Given the description of an element on the screen output the (x, y) to click on. 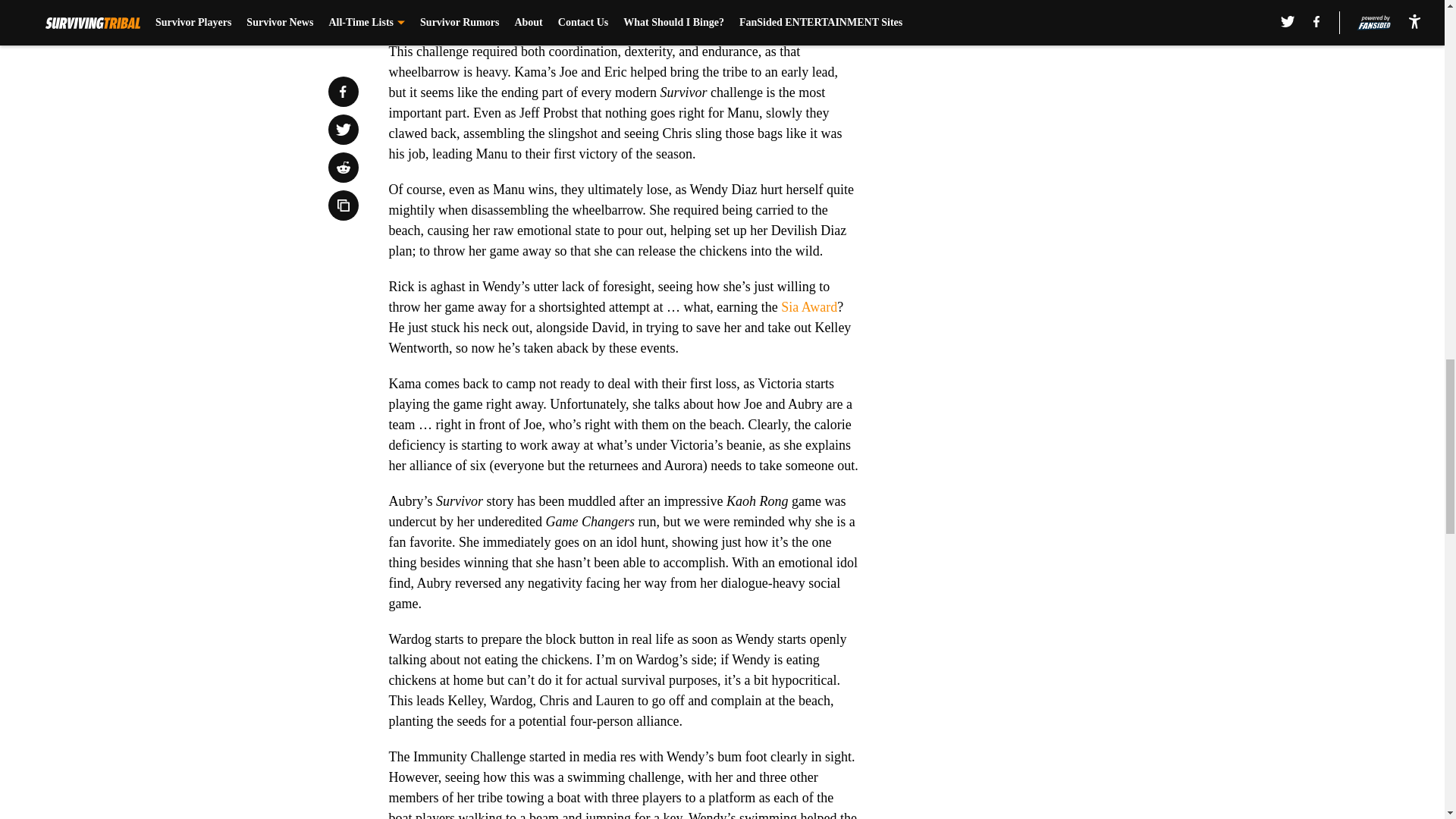
Sia Award (808, 306)
